Given the description of an element on the screen output the (x, y) to click on. 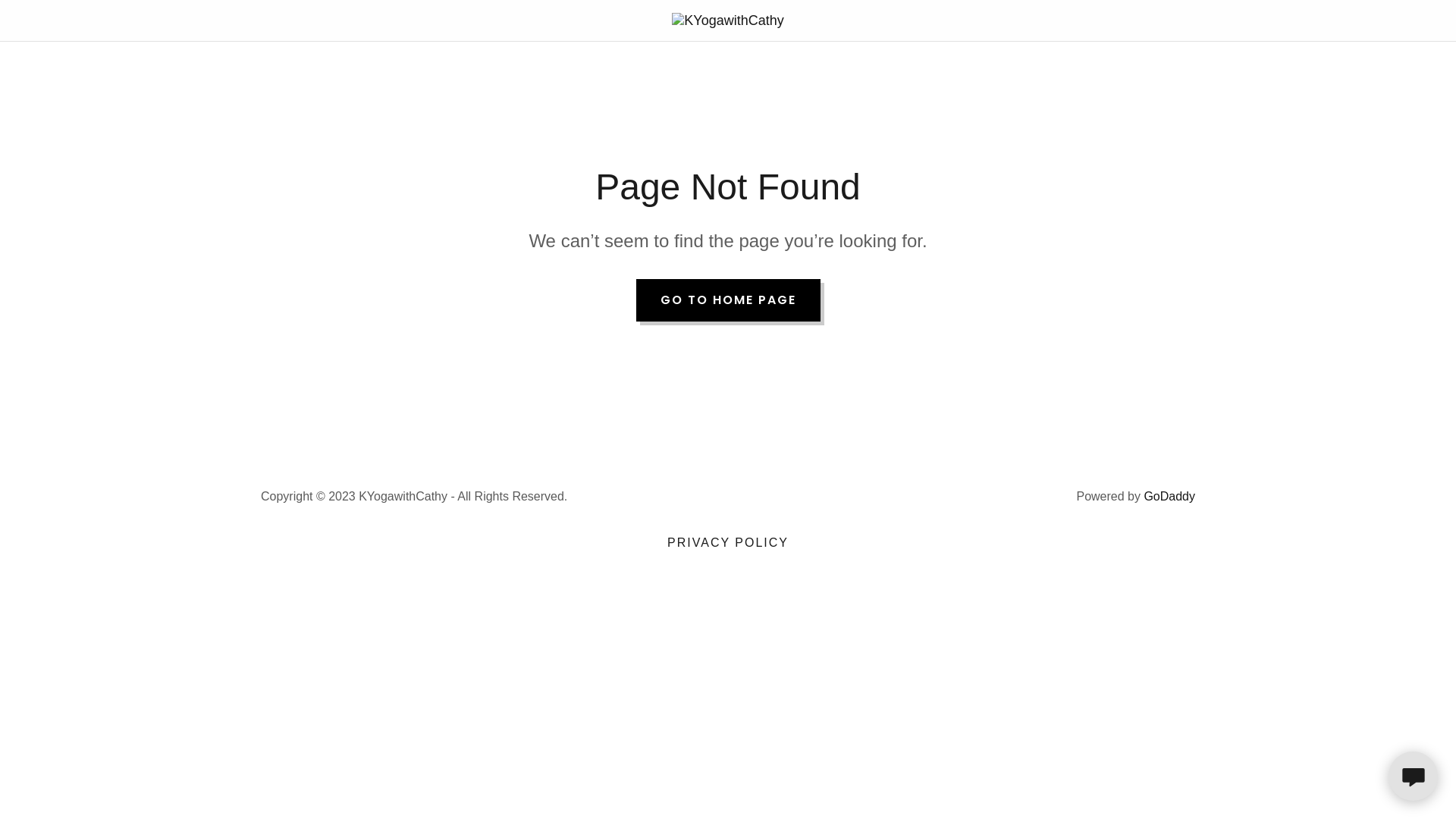
GoDaddy Element type: text (1169, 495)
KYogawithCathy Element type: hover (727, 19)
GO TO HOME PAGE Element type: text (727, 300)
PRIVACY POLICY Element type: text (727, 542)
